Given the description of an element on the screen output the (x, y) to click on. 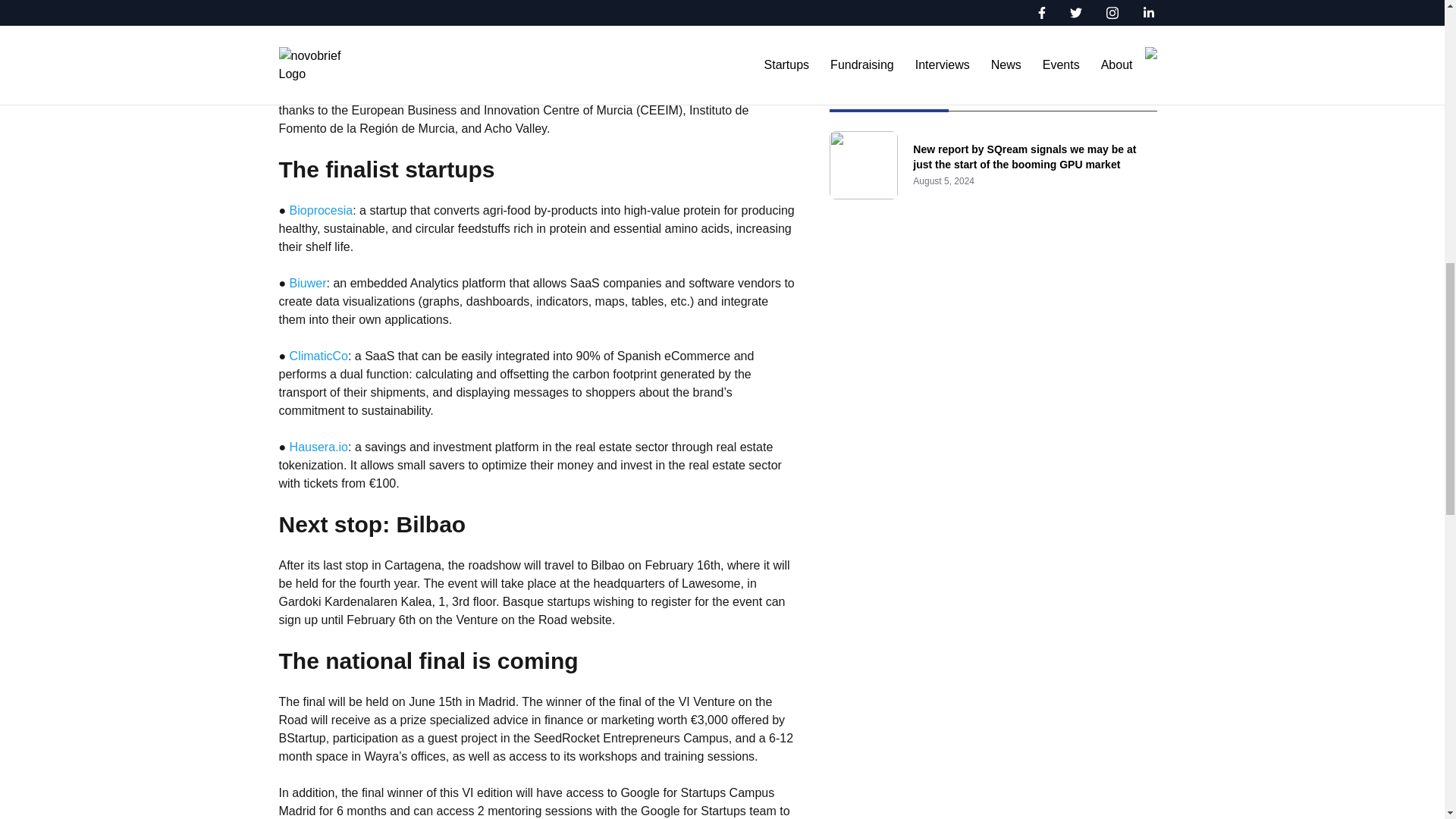
ClimaticCo (318, 355)
Biuwer (307, 282)
Bioprocesia (321, 210)
Hausera.io (318, 446)
